Given the description of an element on the screen output the (x, y) to click on. 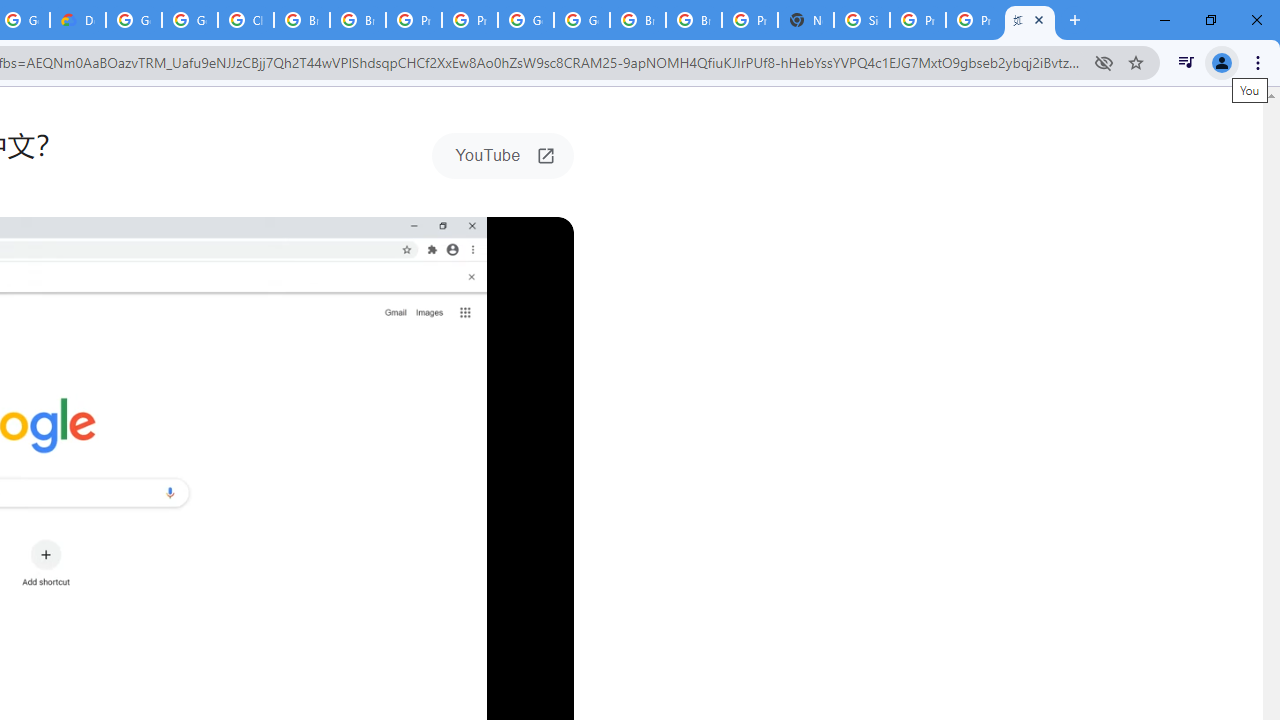
New Tab (806, 20)
Browse Chrome as a guest - Computer - Google Chrome Help (637, 20)
Sign in - Google Accounts (861, 20)
Chrome (1260, 62)
Close (1039, 19)
Minimize (1165, 20)
Google Cloud Platform (582, 20)
Browse Chrome as a guest - Computer - Google Chrome Help (301, 20)
Third-party cookies blocked (1103, 62)
Google Cloud Platform (525, 20)
